Given the description of an element on the screen output the (x, y) to click on. 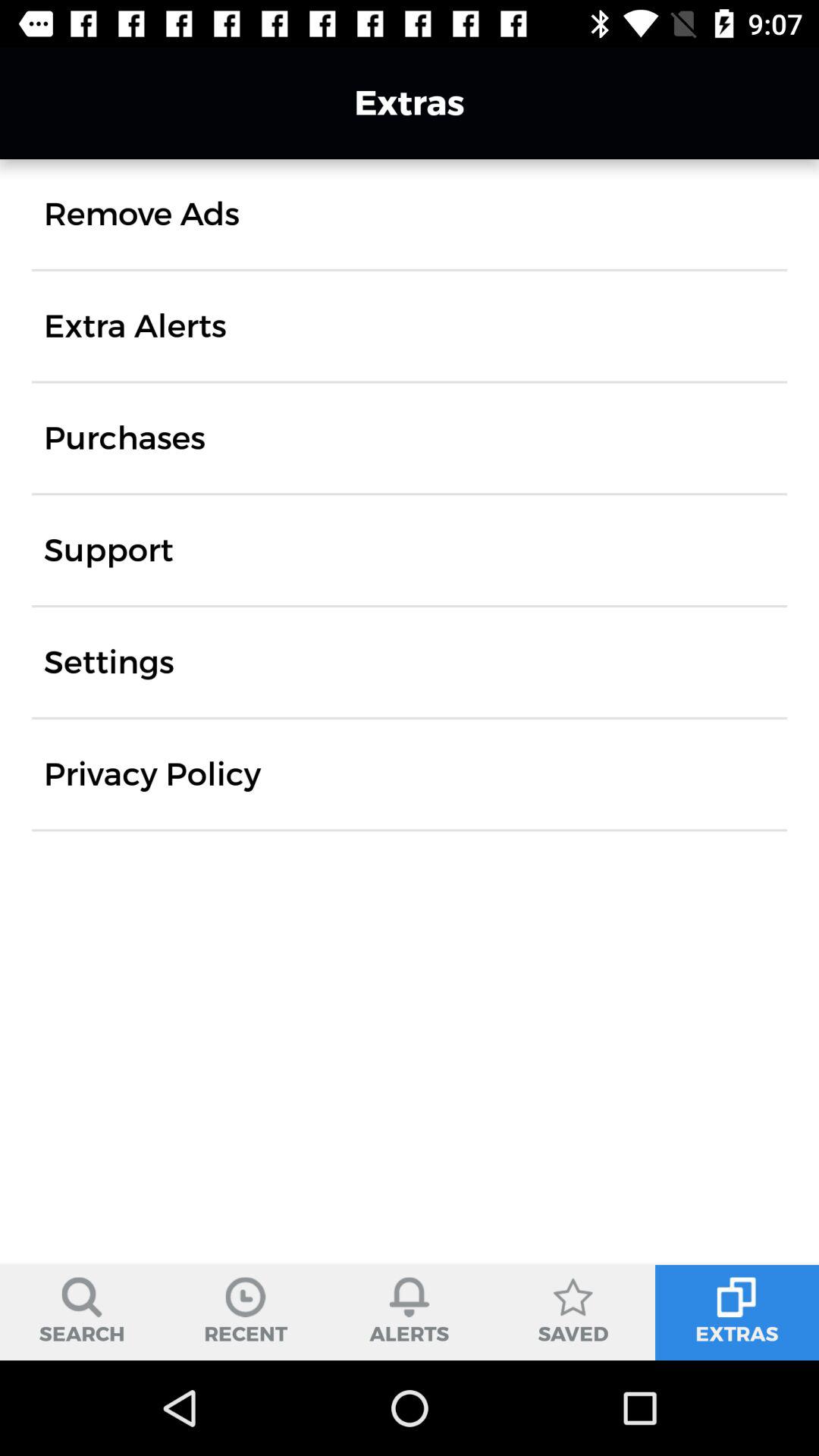
open the item above purchases icon (134, 326)
